Given the description of an element on the screen output the (x, y) to click on. 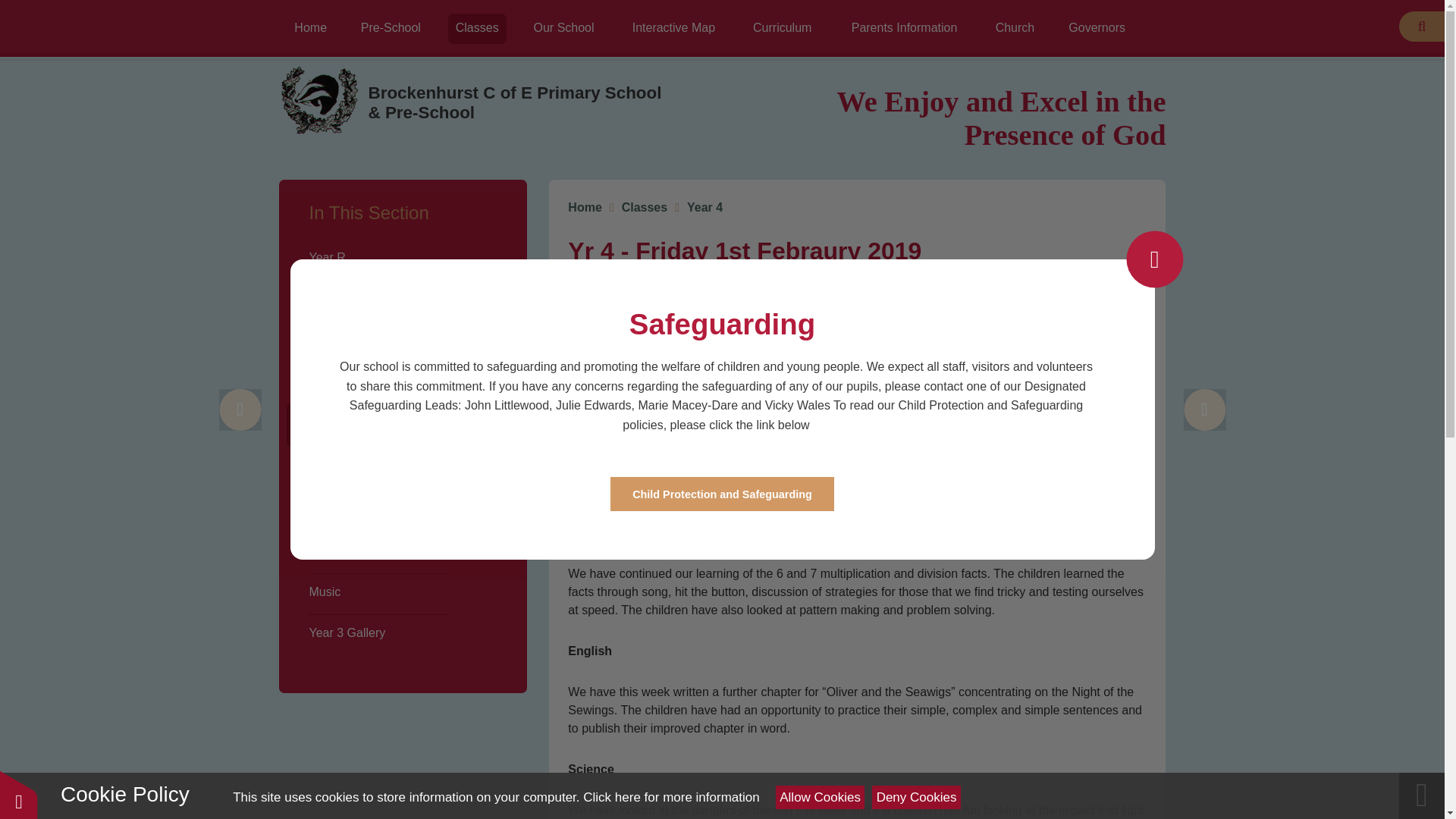
Allow Cookies (820, 797)
Classes (477, 28)
Our School (563, 28)
See cookie policy (670, 797)
Pre-School (390, 28)
Deny Cookies (915, 797)
Home (310, 28)
